Given the description of an element on the screen output the (x, y) to click on. 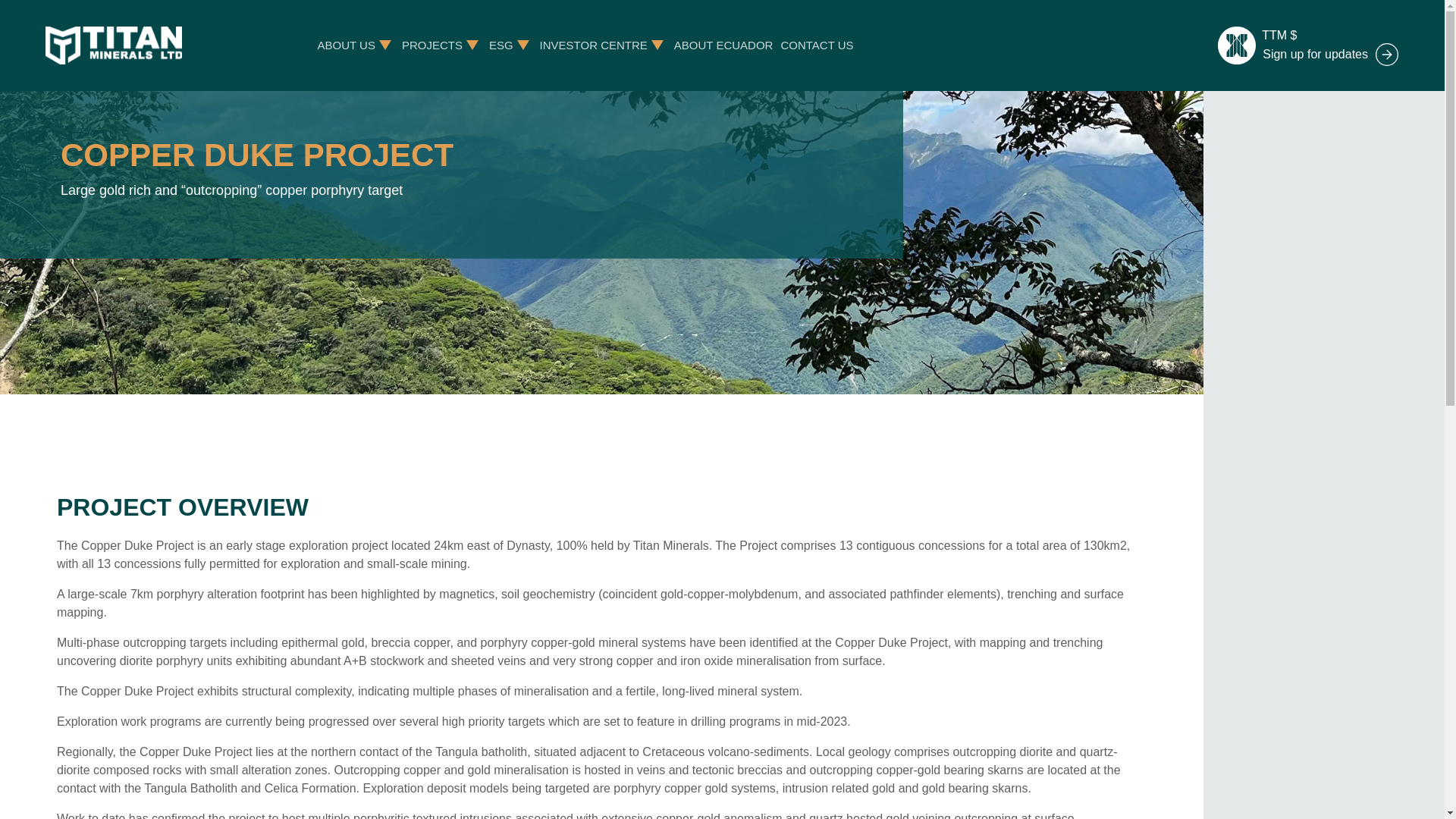
Sign up for updates (1330, 54)
ABOUT US (345, 44)
CONTACT US (816, 44)
PROJECTS (432, 44)
INVESTOR CENTRE (593, 44)
ESG (501, 44)
ABOUT ECUADOR (723, 44)
